Given the description of an element on the screen output the (x, y) to click on. 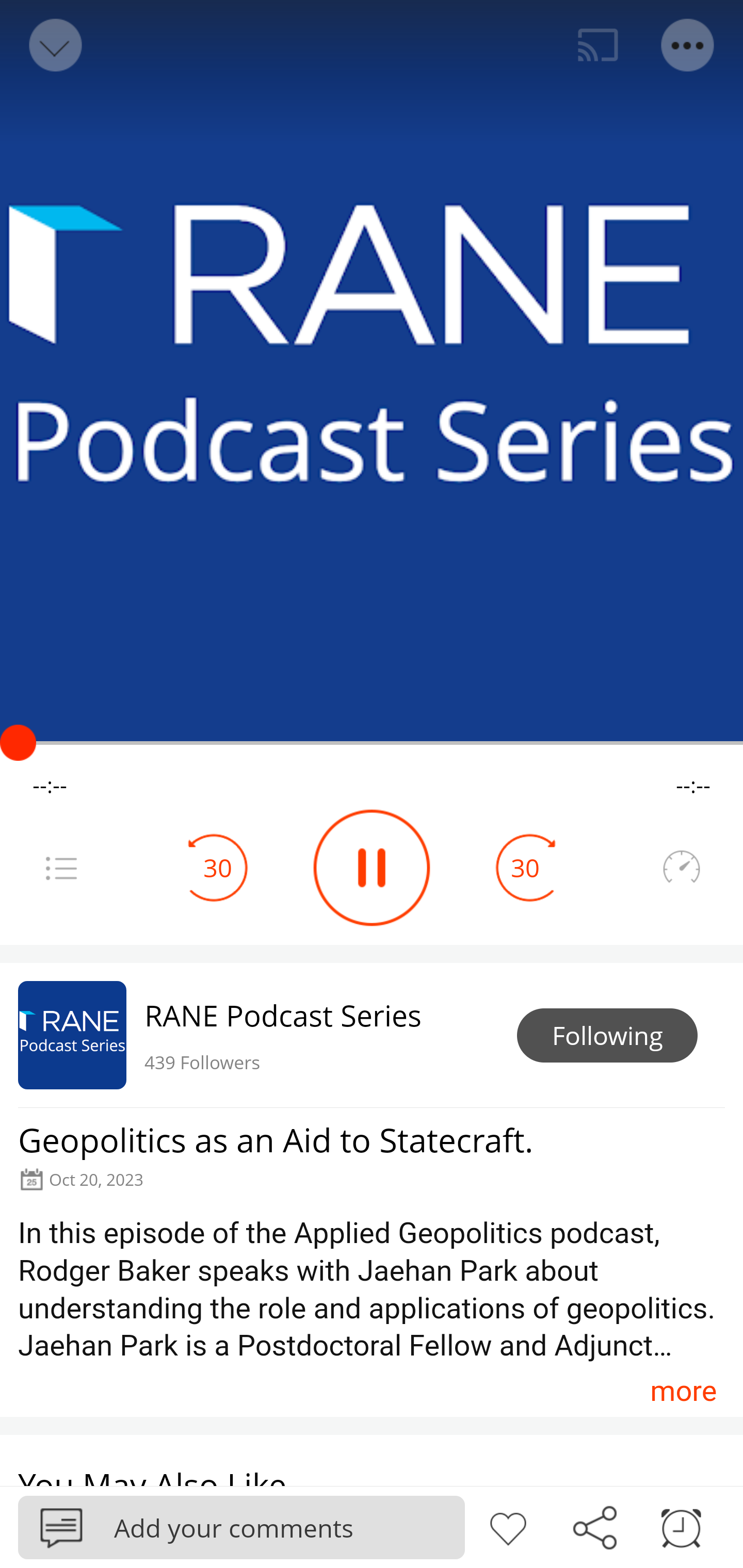
Back (53, 45)
Cast. Disconnected (597, 45)
Menu (688, 45)
Play (371, 867)
30 Seek Backward (217, 867)
30 Seek Forward (525, 867)
Menu (60, 867)
Speedometer (681, 867)
RANE Podcast Series 439 Followers Following (371, 1034)
Following (607, 1035)
more (682, 1390)
Like (508, 1526)
Share (594, 1526)
Sleep timer (681, 1526)
Podbean Add your comments (241, 1526)
